Given the description of an element on the screen output the (x, y) to click on. 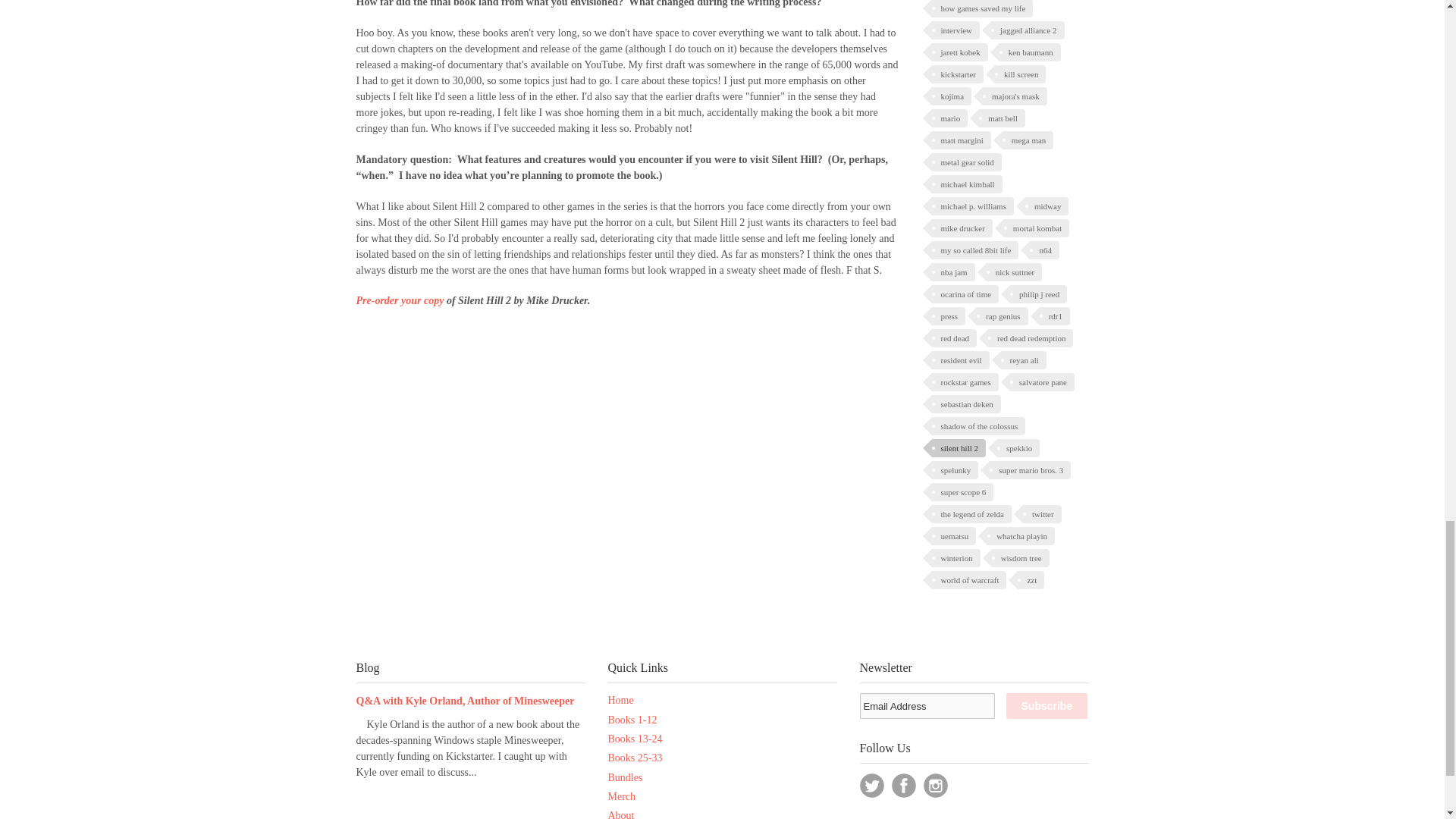
Subscribe (1046, 705)
